Given the description of an element on the screen output the (x, y) to click on. 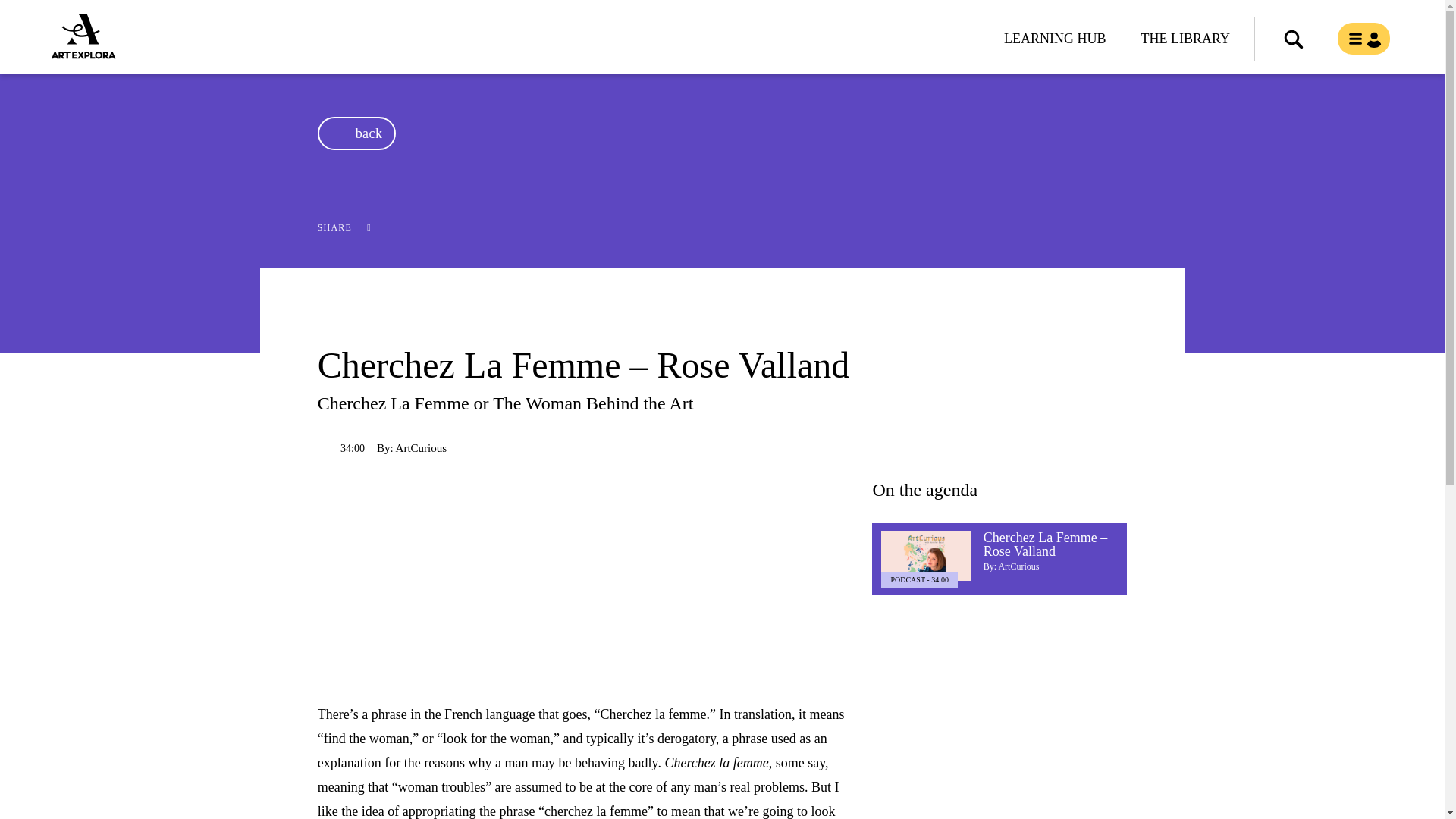
back (356, 133)
LEARNING HUB (1055, 29)
THE LIBRARY (1185, 29)
